Given the description of an element on the screen output the (x, y) to click on. 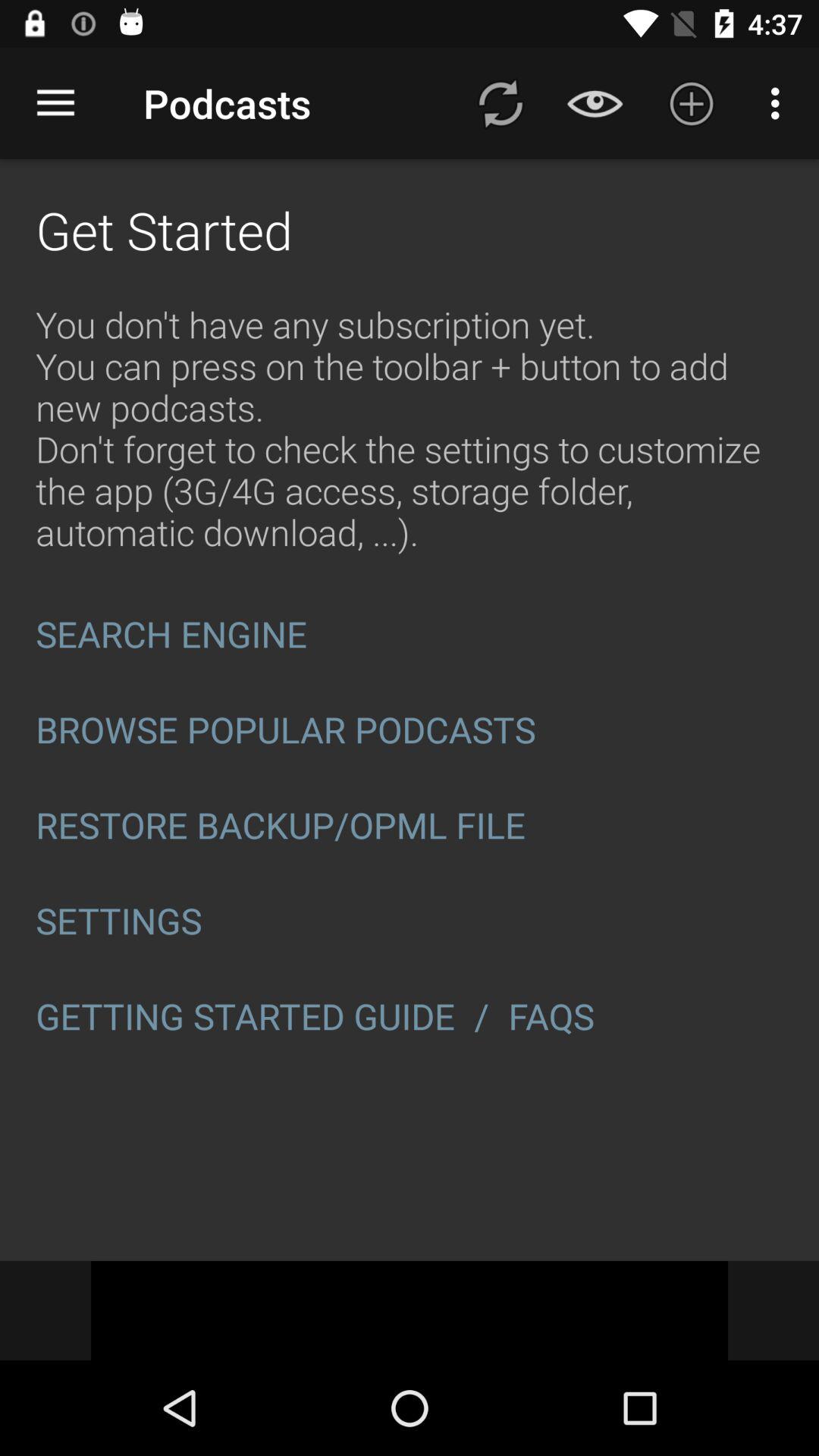
open icon to the right of the podcasts item (500, 103)
